Given the description of an element on the screen output the (x, y) to click on. 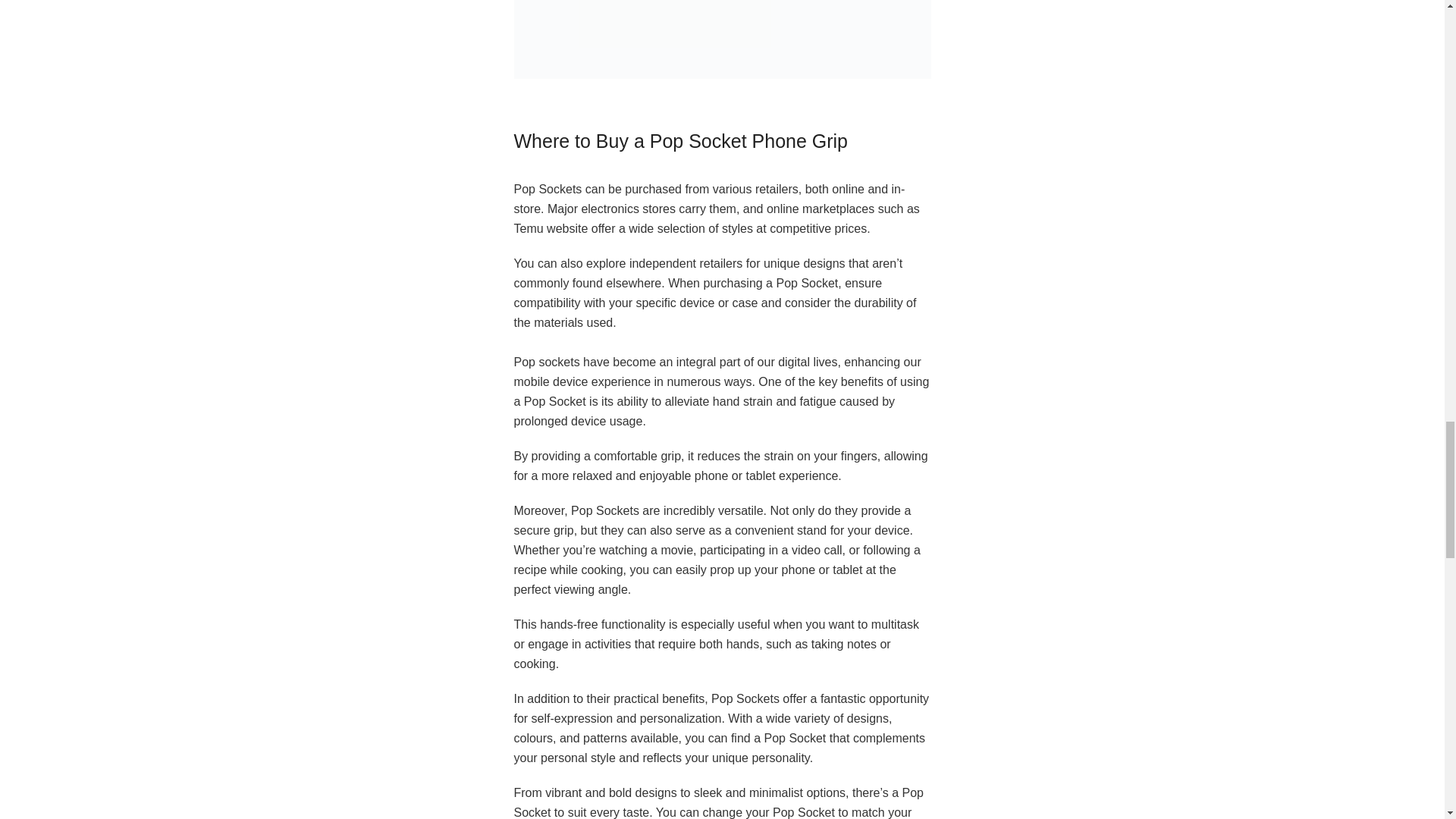
Pop Sockets: More Than Just a Phone Accessory 1 (722, 39)
